Given the description of an element on the screen output the (x, y) to click on. 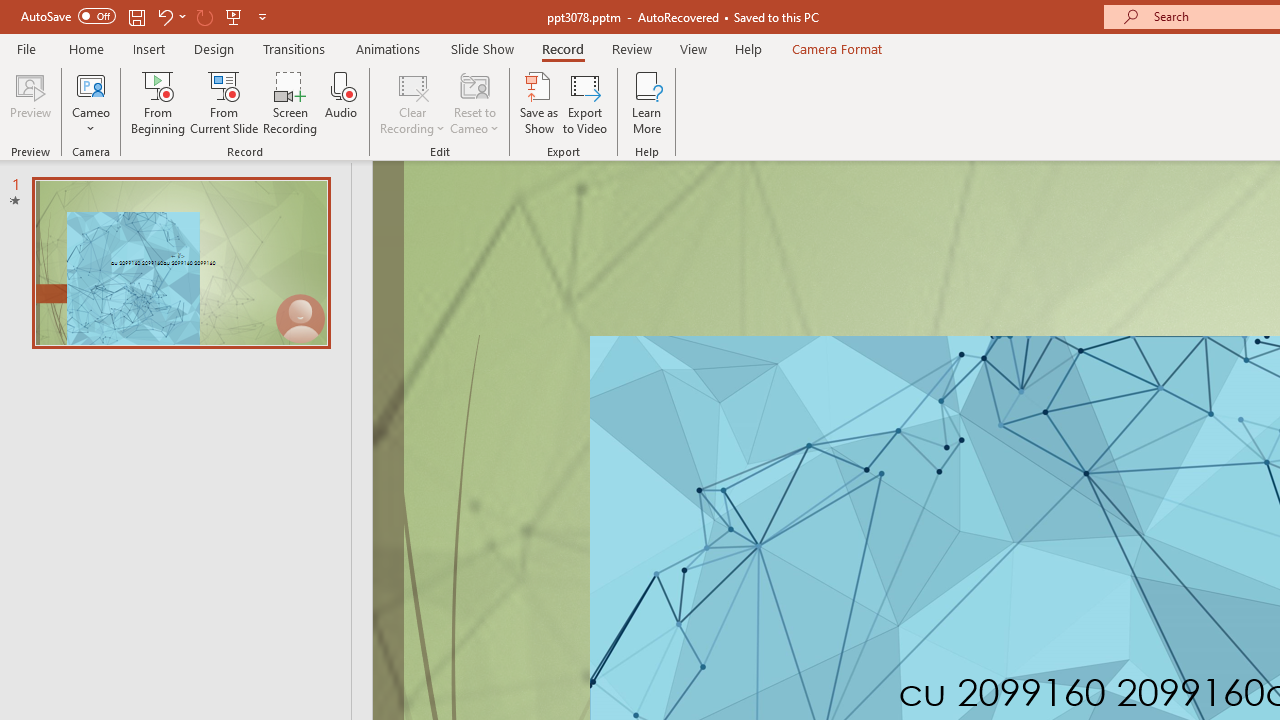
Camera Format (836, 48)
